Given the description of an element on the screen output the (x, y) to click on. 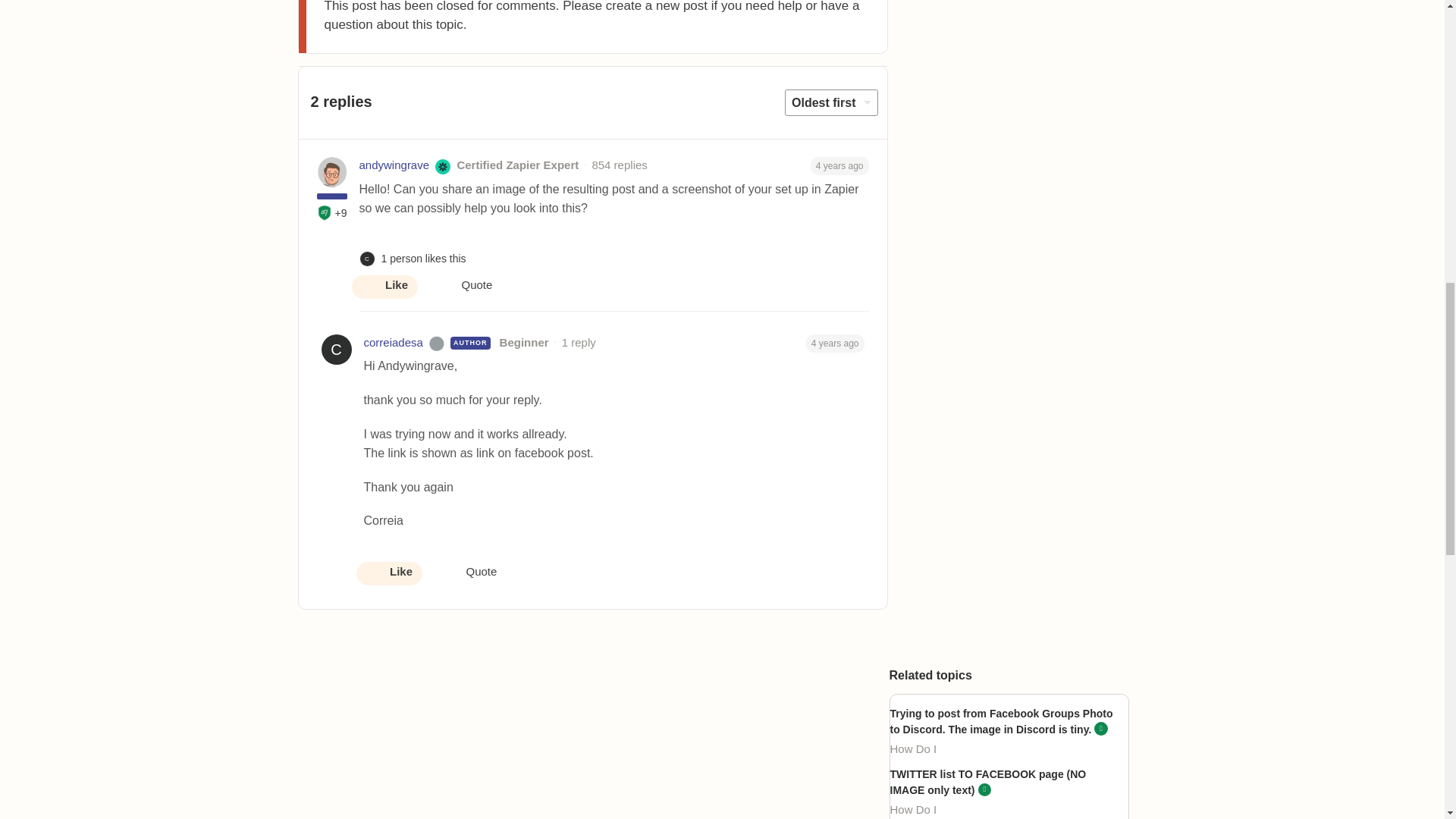
correiadesa (393, 343)
Helpful (324, 212)
andywingrave (394, 165)
